Given the description of an element on the screen output the (x, y) to click on. 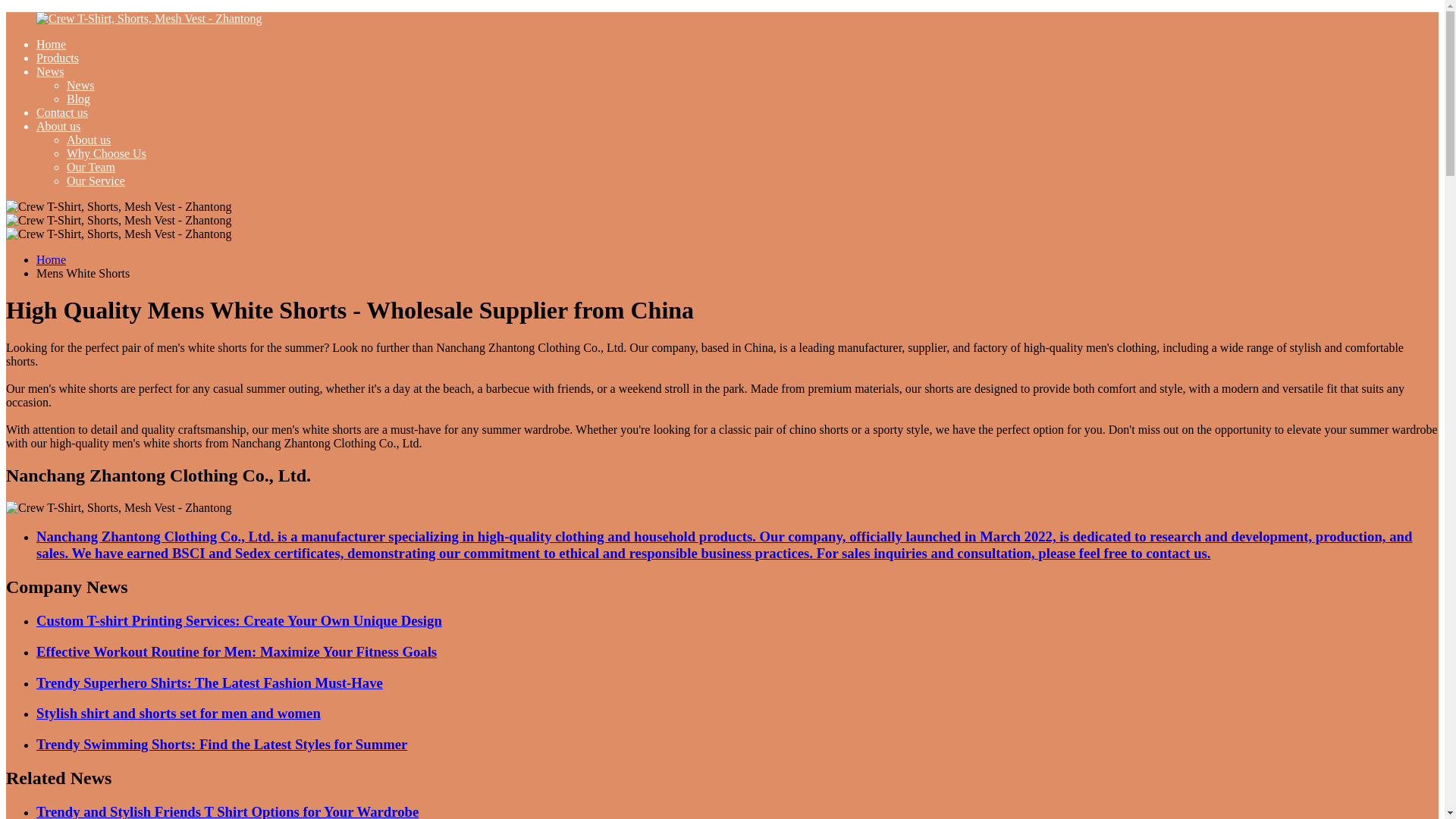
About us (88, 139)
Contact us (61, 112)
News (50, 71)
Our Team (90, 166)
Our Service (95, 180)
Why Choose Us (106, 153)
About us (58, 125)
Home (50, 43)
Blog (78, 98)
Home (50, 259)
Products (57, 57)
News (80, 84)
